Given the description of an element on the screen output the (x, y) to click on. 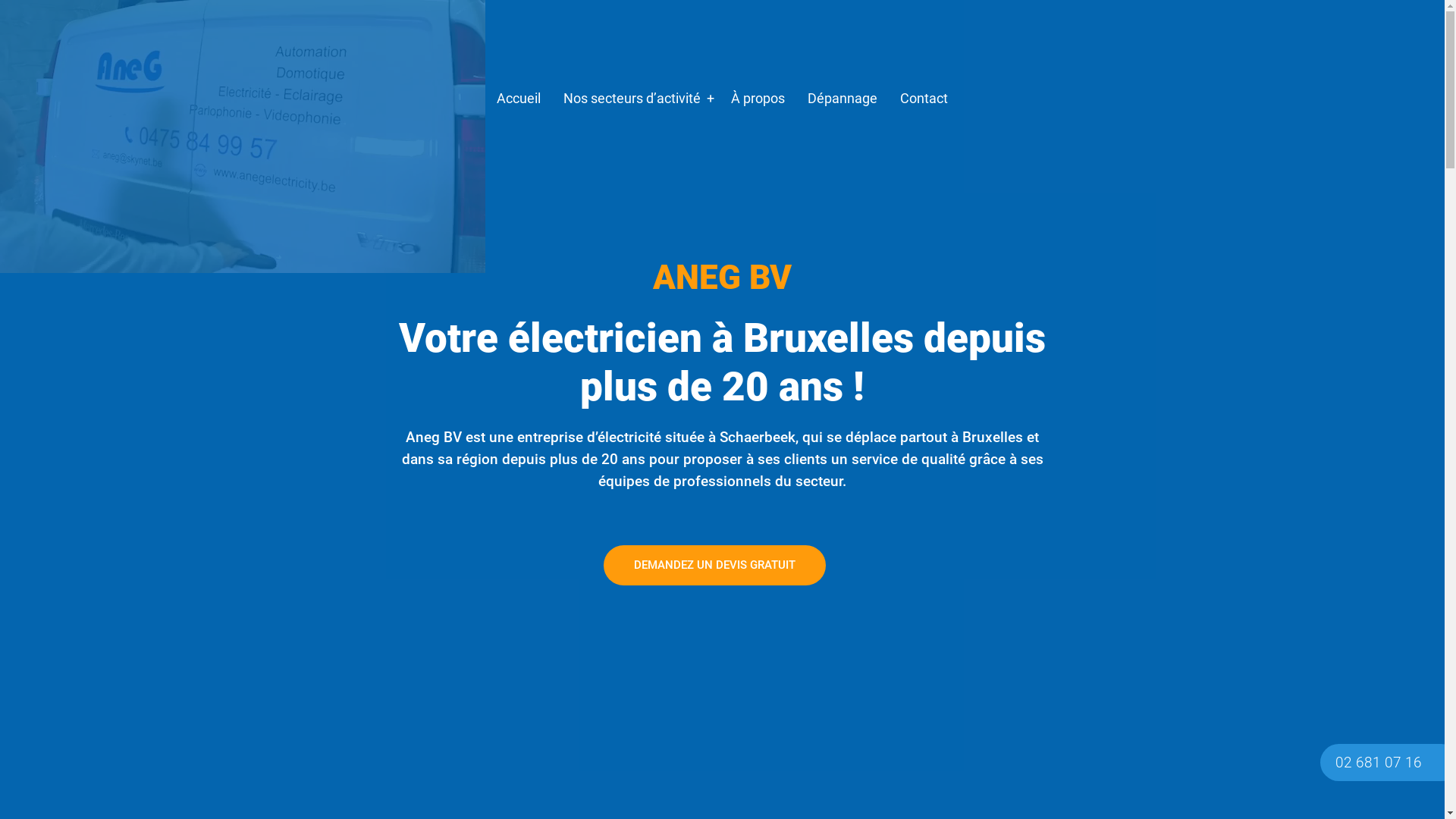
Accueil Element type: text (518, 98)
Contact Element type: text (923, 98)
DEMANDEZ UN DEVIS GRATUIT Element type: text (714, 565)
02 681 07 16 Element type: text (1378, 762)
OBTENIR UN DEVIS Element type: text (754, 129)
